Given the description of an element on the screen output the (x, y) to click on. 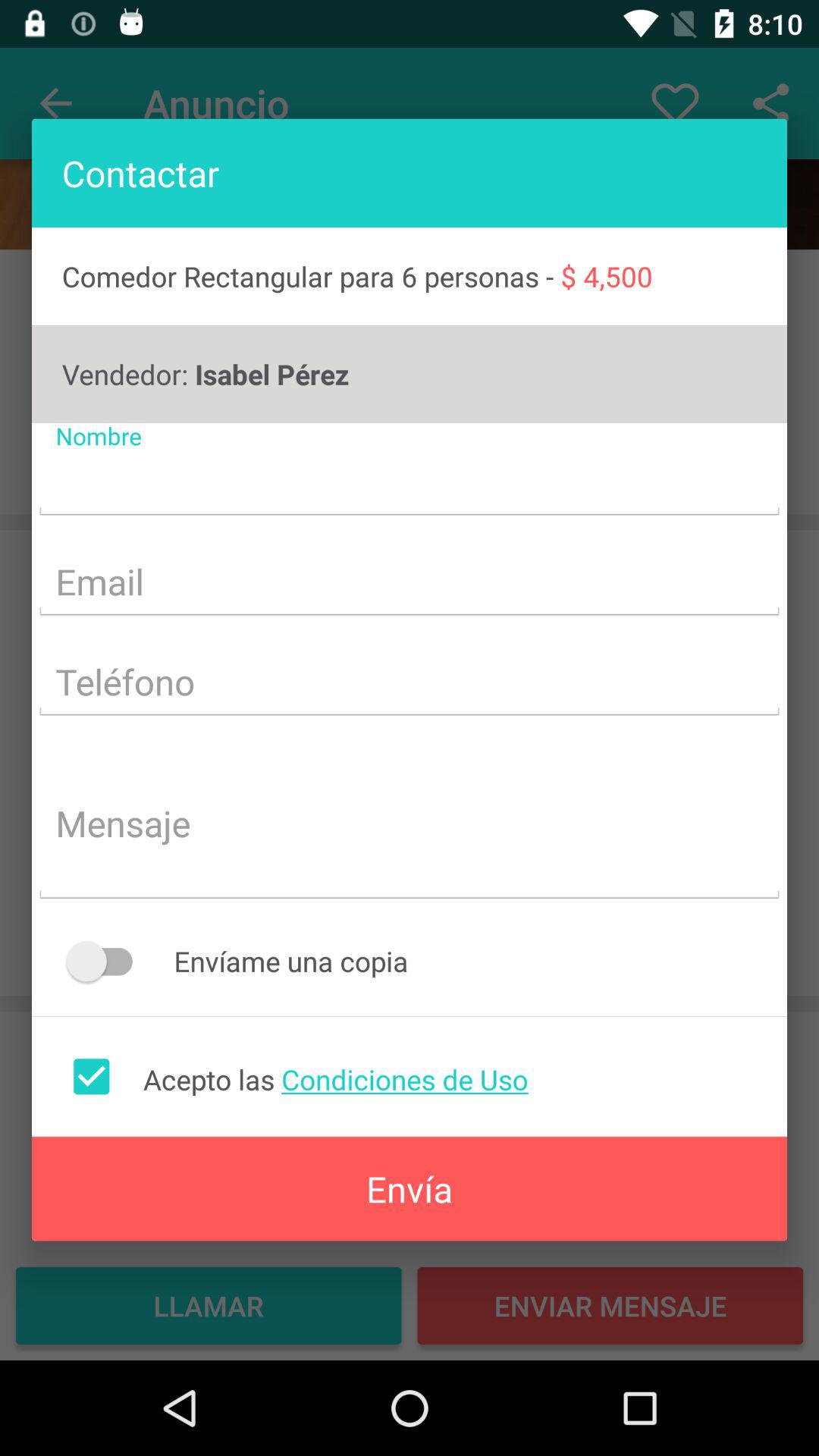
select the button (106, 961)
